Given the description of an element on the screen output the (x, y) to click on. 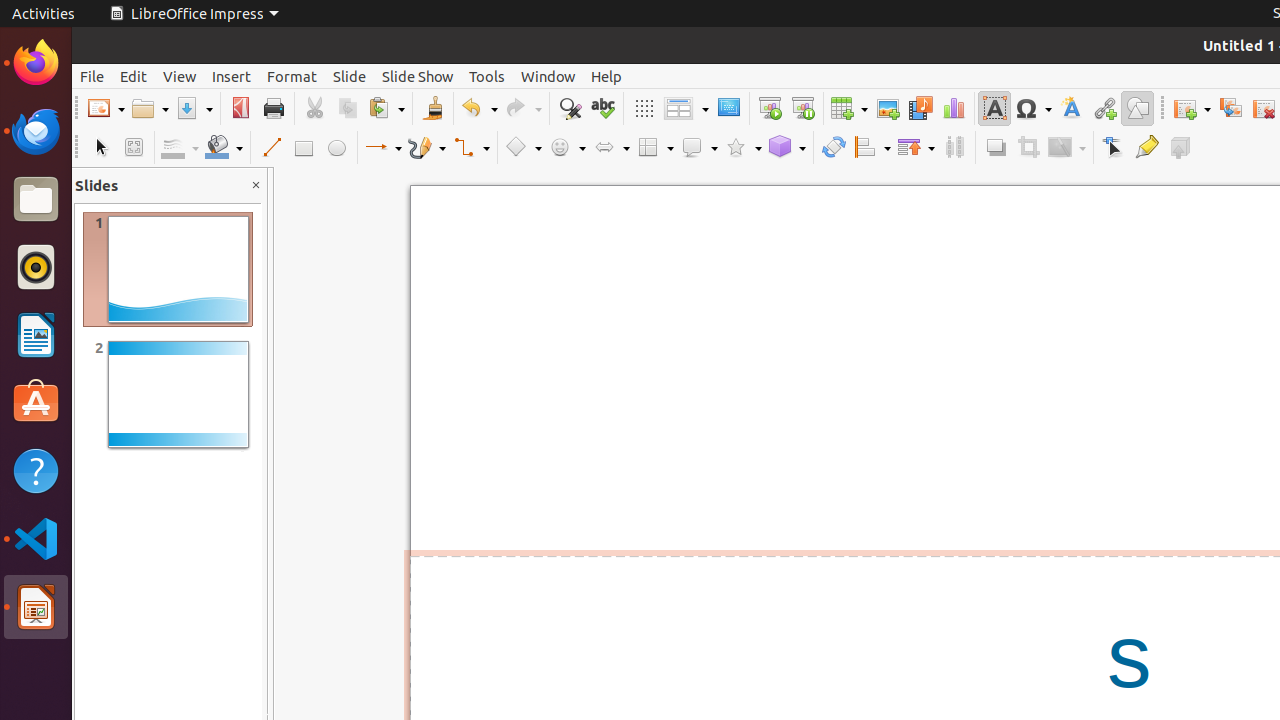
Insert Element type: menu (231, 76)
Basic Shapes Element type: push-button (523, 147)
Save Element type: push-button (194, 108)
Open Element type: push-button (150, 108)
Window Element type: menu (548, 76)
